Given the description of an element on the screen output the (x, y) to click on. 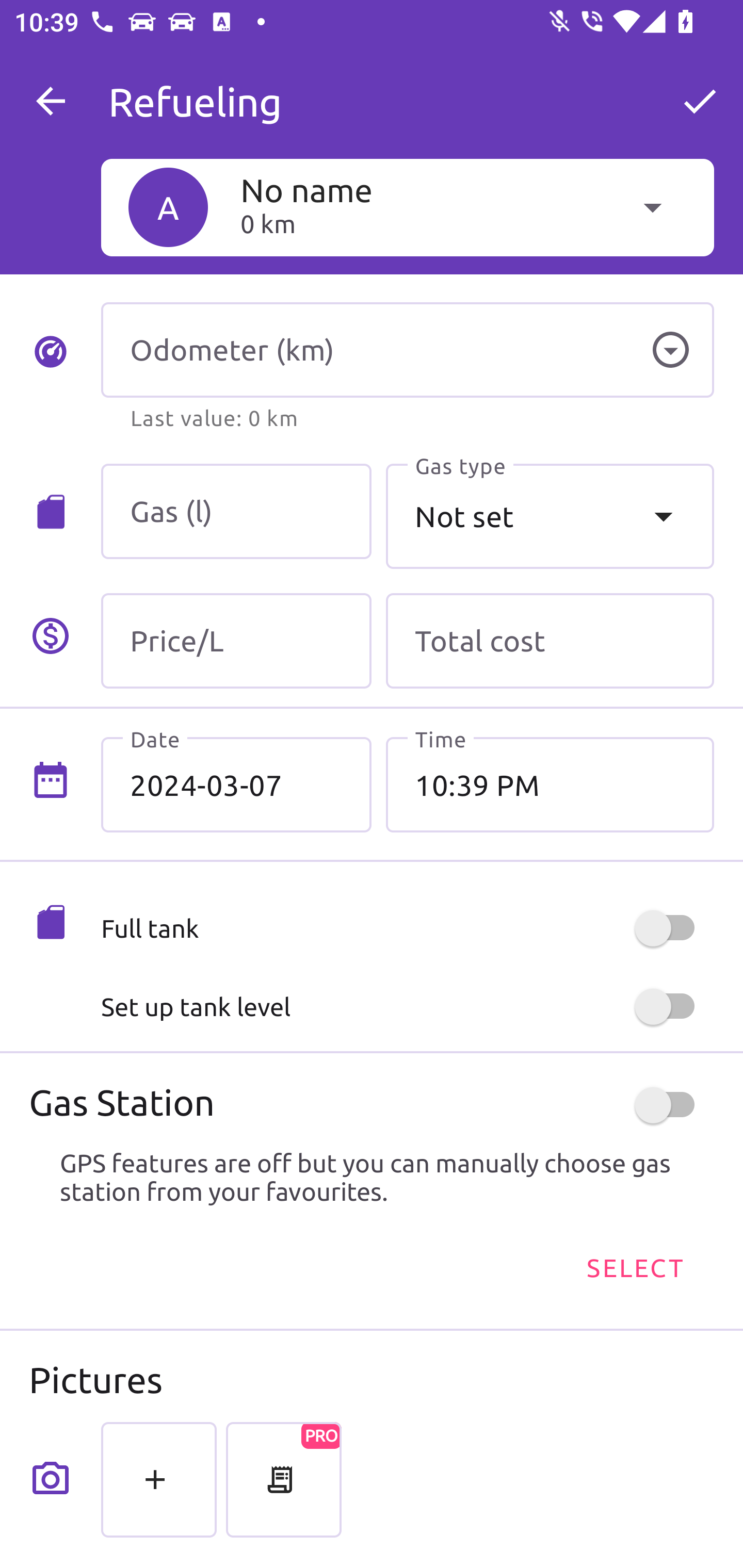
Navigate up (50, 101)
OK (699, 101)
A No name 0 km (407, 206)
Odometer (km) (407, 350)
Odometer (670, 349)
Gas (l) (236, 511)
Not set (549, 516)
Price/L (236, 640)
Total cost  (549, 640)
2024-03-07 (236, 784)
10:39 PM (549, 784)
Full tank (407, 928)
Set up tank level (407, 1006)
SELECT (634, 1267)
